Given the description of an element on the screen output the (x, y) to click on. 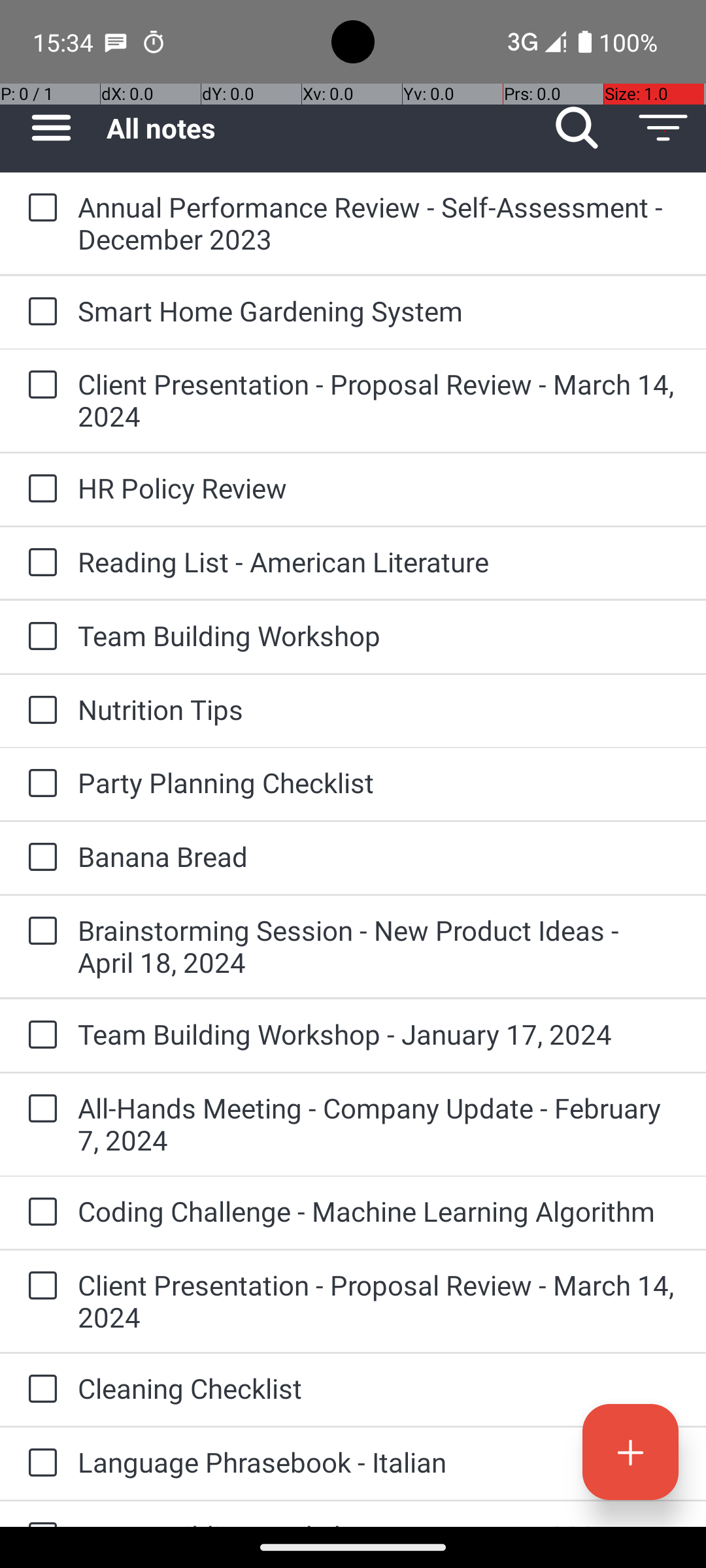
to-do: Smart Home Gardening System Element type: android.widget.CheckBox (38, 312)
Smart Home Gardening System Element type: android.widget.TextView (378, 310)
to-do: Client Presentation - Proposal Review - March 14, 2024 Element type: android.widget.CheckBox (38, 385)
Client Presentation - Proposal Review - March 14, 2024 Element type: android.widget.TextView (378, 399)
to-do: HR Policy Review Element type: android.widget.CheckBox (38, 489)
HR Policy Review Element type: android.widget.TextView (378, 487)
to-do: Reading List - American Literature Element type: android.widget.CheckBox (38, 563)
Reading List - American Literature Element type: android.widget.TextView (378, 561)
to-do: Team Building Workshop Element type: android.widget.CheckBox (38, 637)
Team Building Workshop Element type: android.widget.TextView (378, 634)
to-do: Nutrition Tips Element type: android.widget.CheckBox (38, 710)
Nutrition Tips Element type: android.widget.TextView (378, 708)
to-do: Party Planning Checklist Element type: android.widget.CheckBox (38, 783)
Party Planning Checklist Element type: android.widget.TextView (378, 781)
to-do: Banana Bread Element type: android.widget.CheckBox (38, 857)
Banana Bread Element type: android.widget.TextView (378, 855)
to-do: Brainstorming Session - New Product Ideas - April 18, 2024 Element type: android.widget.CheckBox (38, 931)
Brainstorming Session - New Product Ideas - April 18, 2024 Element type: android.widget.TextView (378, 945)
to-do: Team Building Workshop - January 17, 2024 Element type: android.widget.CheckBox (38, 1035)
Team Building Workshop - January 17, 2024 Element type: android.widget.TextView (378, 1033)
to-do: All-Hands Meeting - Company Update - February 7, 2024 Element type: android.widget.CheckBox (38, 1109)
All-Hands Meeting - Company Update - February 7, 2024 Element type: android.widget.TextView (378, 1123)
to-do: Cleaning Checklist Element type: android.widget.CheckBox (38, 1389)
Cleaning Checklist Element type: android.widget.TextView (378, 1387)
to-do: Language Phrasebook - Italian Element type: android.widget.CheckBox (38, 1463)
Language Phrasebook - Italian Element type: android.widget.TextView (378, 1461)
